Given the description of an element on the screen output the (x, y) to click on. 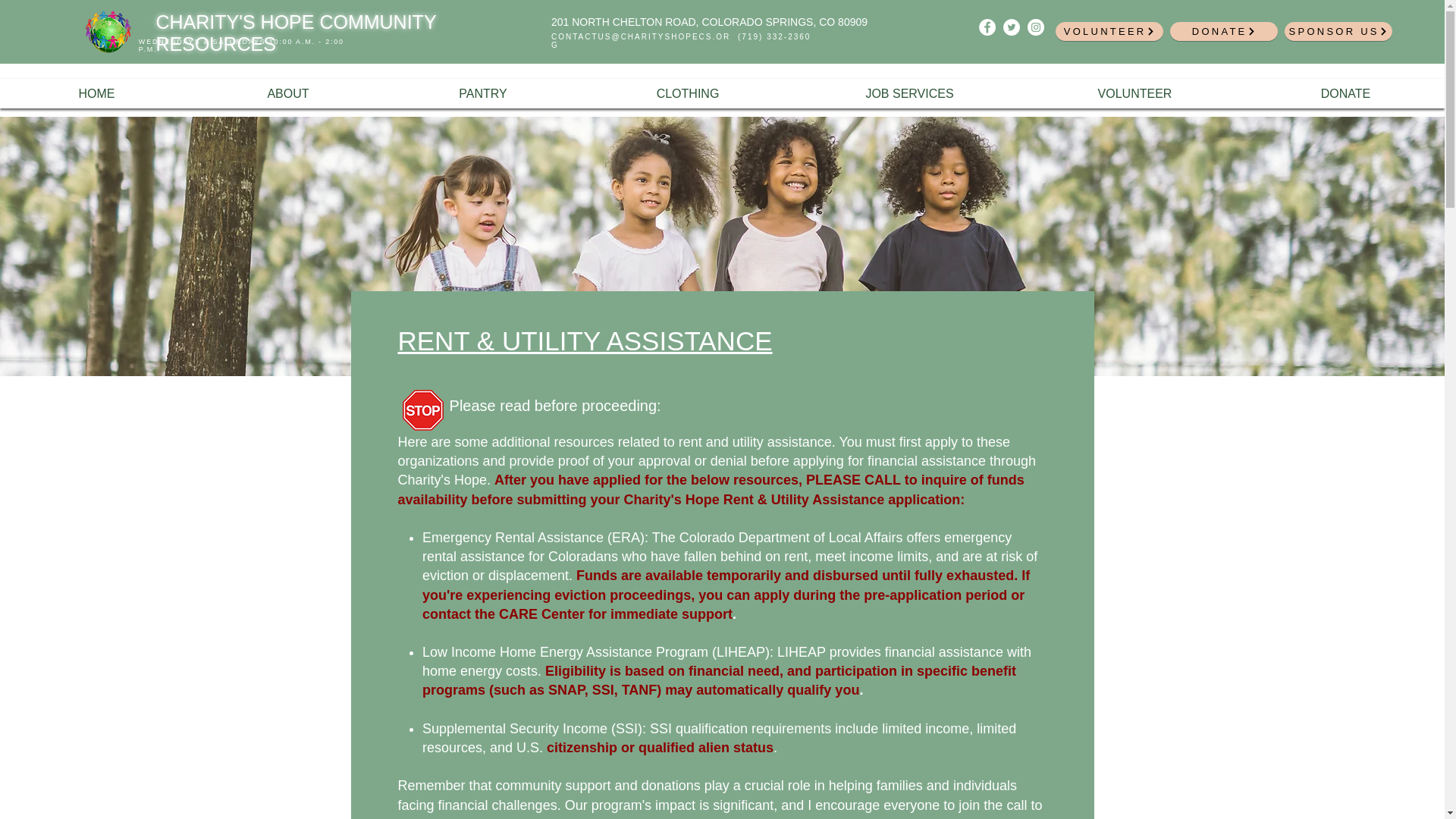
citizenship or qualified alien status (660, 747)
CLOTHING (687, 93)
DONATE (1224, 31)
VOLUNTEER (1134, 93)
HOME (96, 93)
SPONSOR US (1337, 31)
ABOUT (287, 93)
JOB SERVICES (909, 93)
PANTRY (483, 93)
VOLUNTEER (1109, 31)
